Given the description of an element on the screen output the (x, y) to click on. 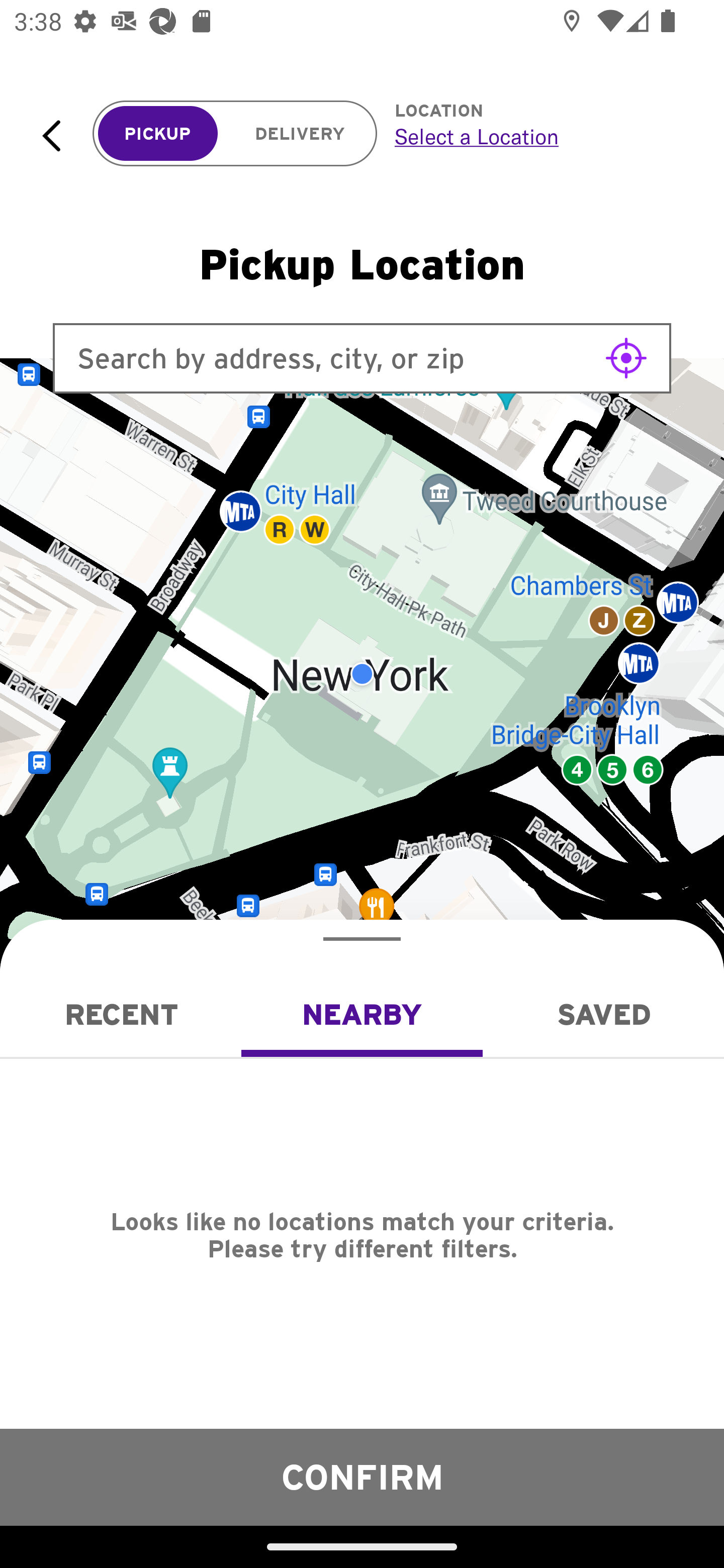
PICKUP (157, 133)
DELIVERY (299, 133)
Select a Location (536, 136)
Search by address, city, or zip (361, 358)
Google Map (362, 674)
Recent RECENT (120, 1014)
Saved SAVED (603, 1014)
CONFIRM (362, 1476)
